Given the description of an element on the screen output the (x, y) to click on. 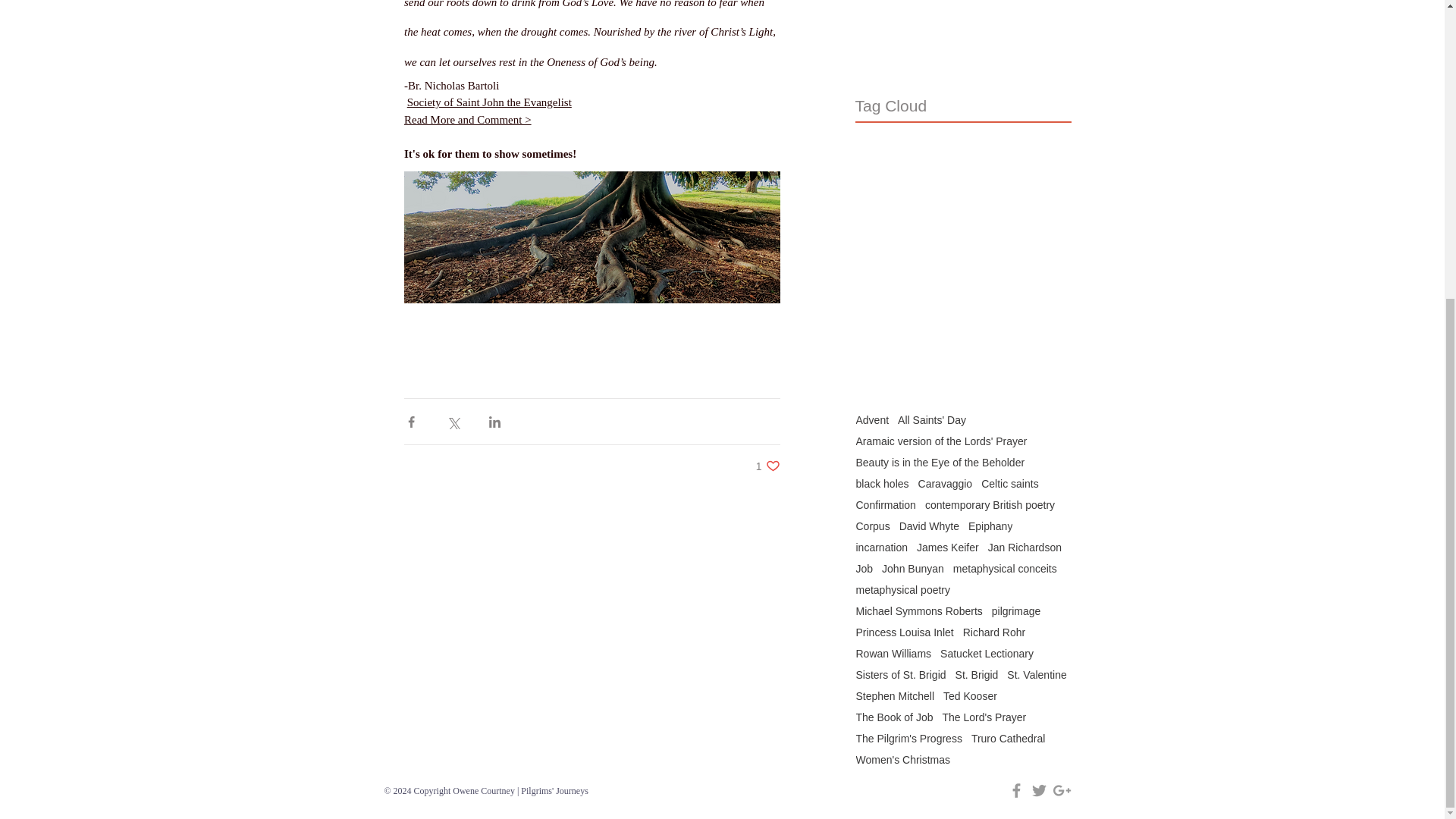
Satucket Lectionary (986, 653)
contemporary British poetry (989, 504)
Beauty is in the Eye of the Beholder (940, 462)
Epiphany (989, 526)
Society of Saint John the Evangelist (488, 102)
Michael Symmons Roberts (918, 611)
Confirmation (885, 504)
Rowan Williams (893, 653)
David Whyte (929, 526)
The Book of Job (894, 717)
Caravaggio (945, 483)
Princess Louisa Inlet (904, 632)
St. Brigid (976, 674)
Jan Richardson (1024, 547)
incarnation (881, 547)
